Given the description of an element on the screen output the (x, y) to click on. 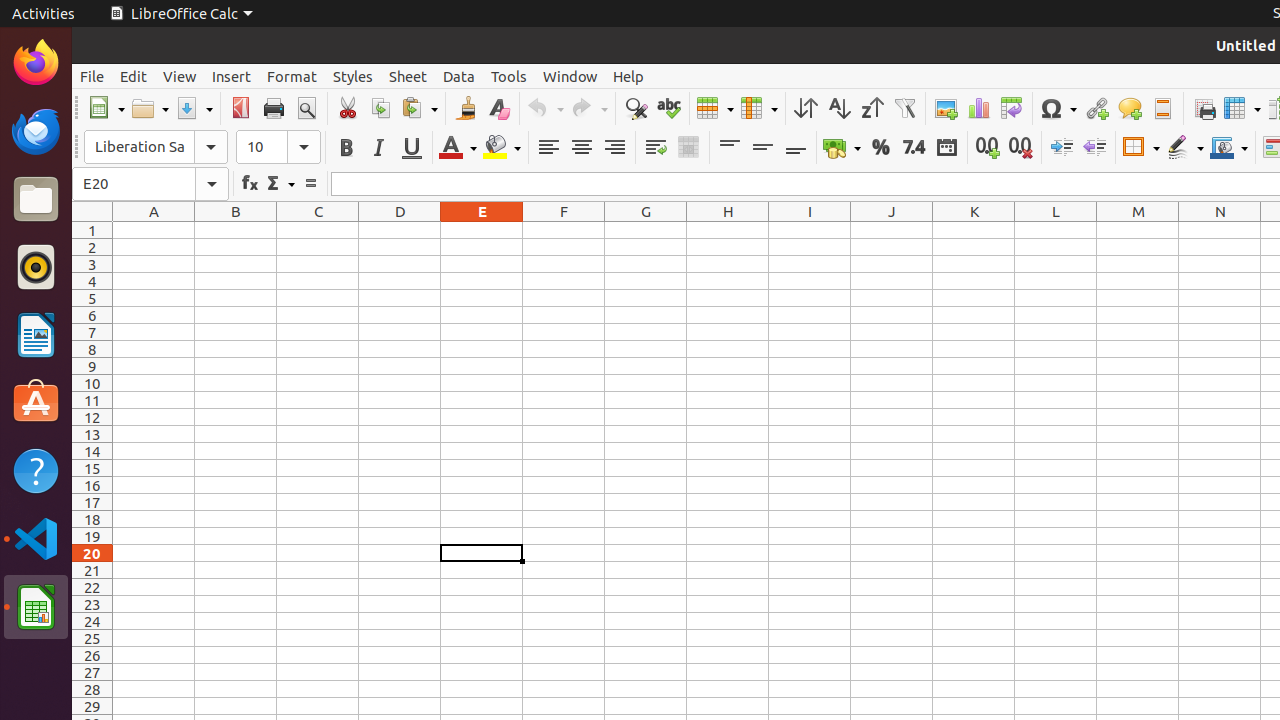
Copy Element type: push-button (380, 108)
Chart Element type: push-button (978, 108)
Sort Element type: push-button (805, 108)
Tools Element type: menu (509, 76)
LibreOffice Calc Element type: push-button (36, 607)
